Given the description of an element on the screen output the (x, y) to click on. 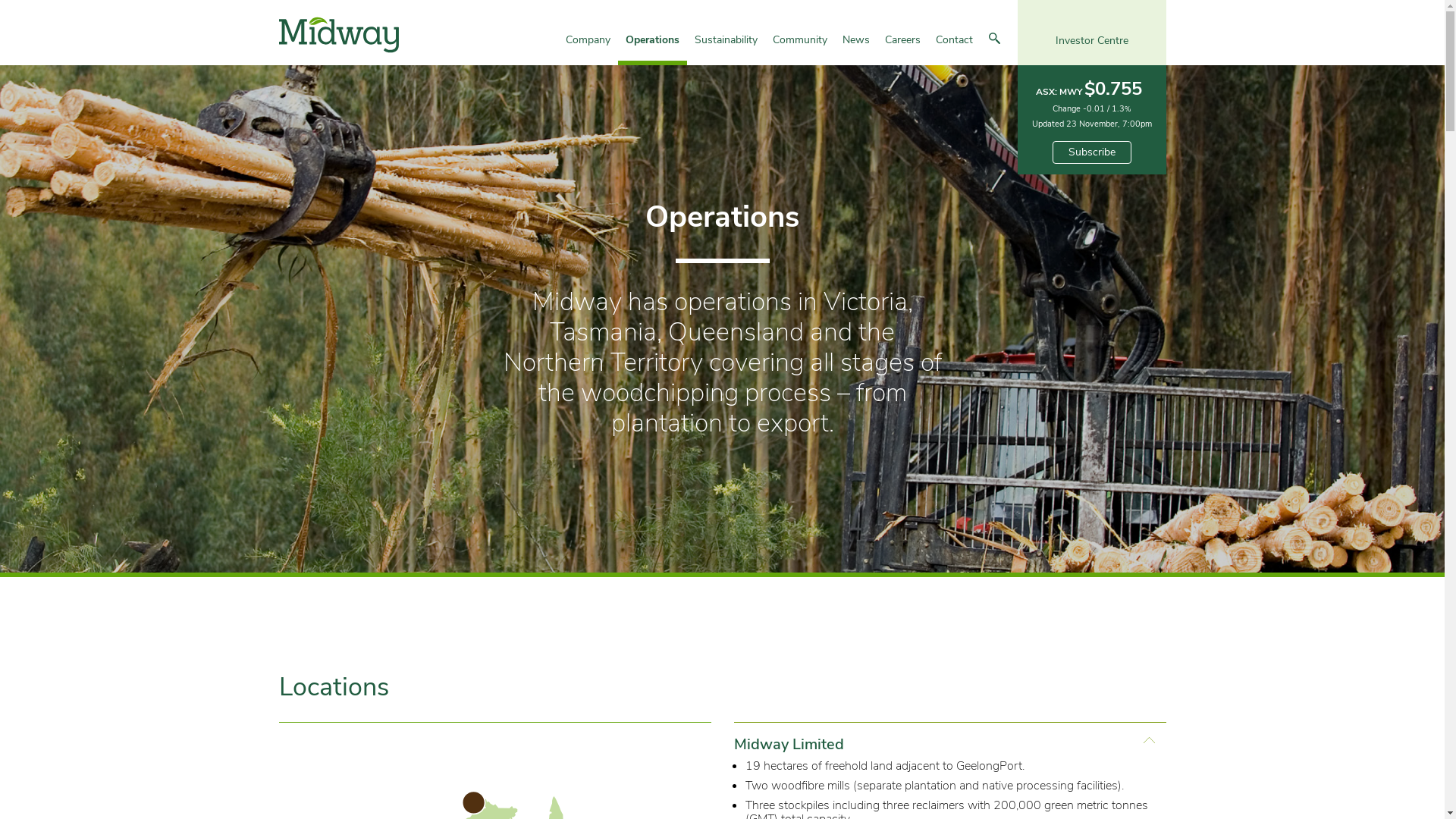
Midway Element type: hover (338, 34)
News Element type: text (855, 46)
Operations Element type: text (652, 46)
Community Element type: text (799, 46)
Sustainability Element type: text (726, 46)
Careers Element type: text (902, 46)
Subscribe Element type: text (1091, 152)
Investor Centre Element type: text (1091, 32)
Contact Element type: text (954, 46)
Company Element type: text (588, 46)
